Given the description of an element on the screen output the (x, y) to click on. 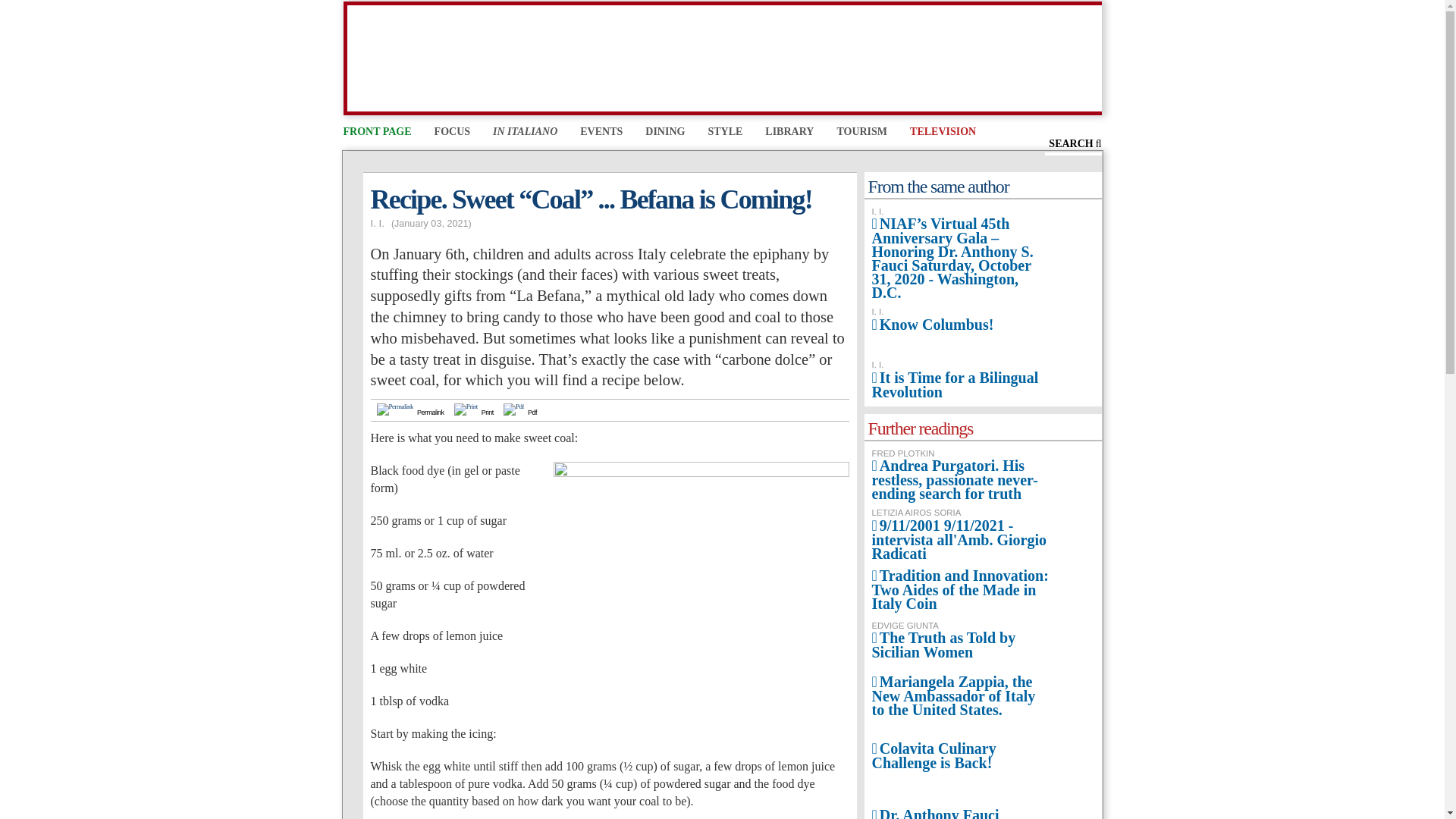
EVENTS (601, 133)
FRONT PAGE (376, 133)
FOCUS (451, 133)
Skip to main content (691, 2)
IN ITALIANO (525, 133)
